Given the description of an element on the screen output the (x, y) to click on. 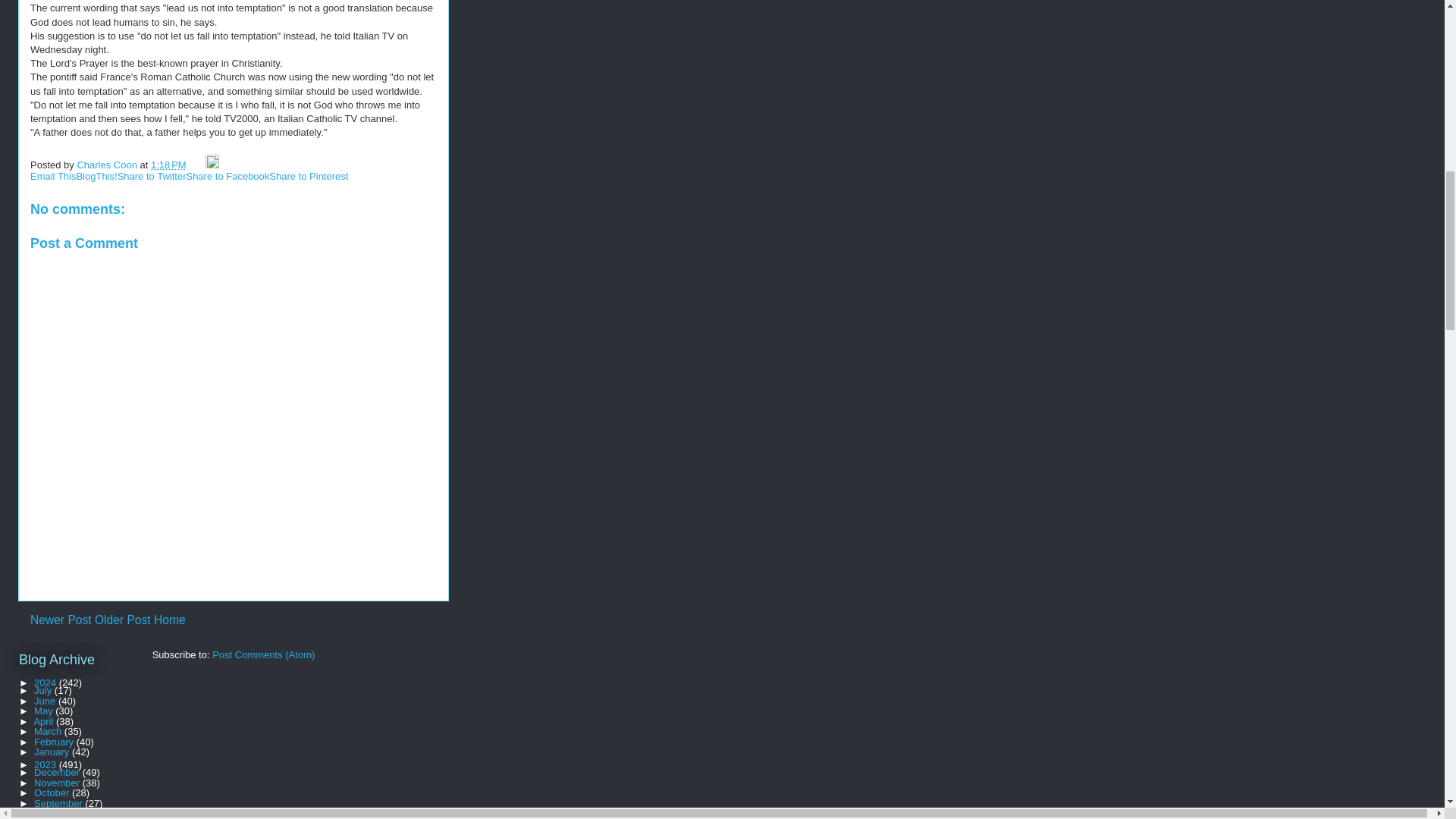
2024 (46, 682)
Share to Facebook (227, 175)
Newer Post (60, 619)
Edit Post (212, 164)
Older Post (122, 619)
February (55, 741)
Share to Pinterest (308, 175)
Share to Twitter (151, 175)
Share to Twitter (151, 175)
Older Post (122, 619)
March (48, 731)
April (44, 721)
January (52, 751)
author profile (108, 164)
